Given the description of an element on the screen output the (x, y) to click on. 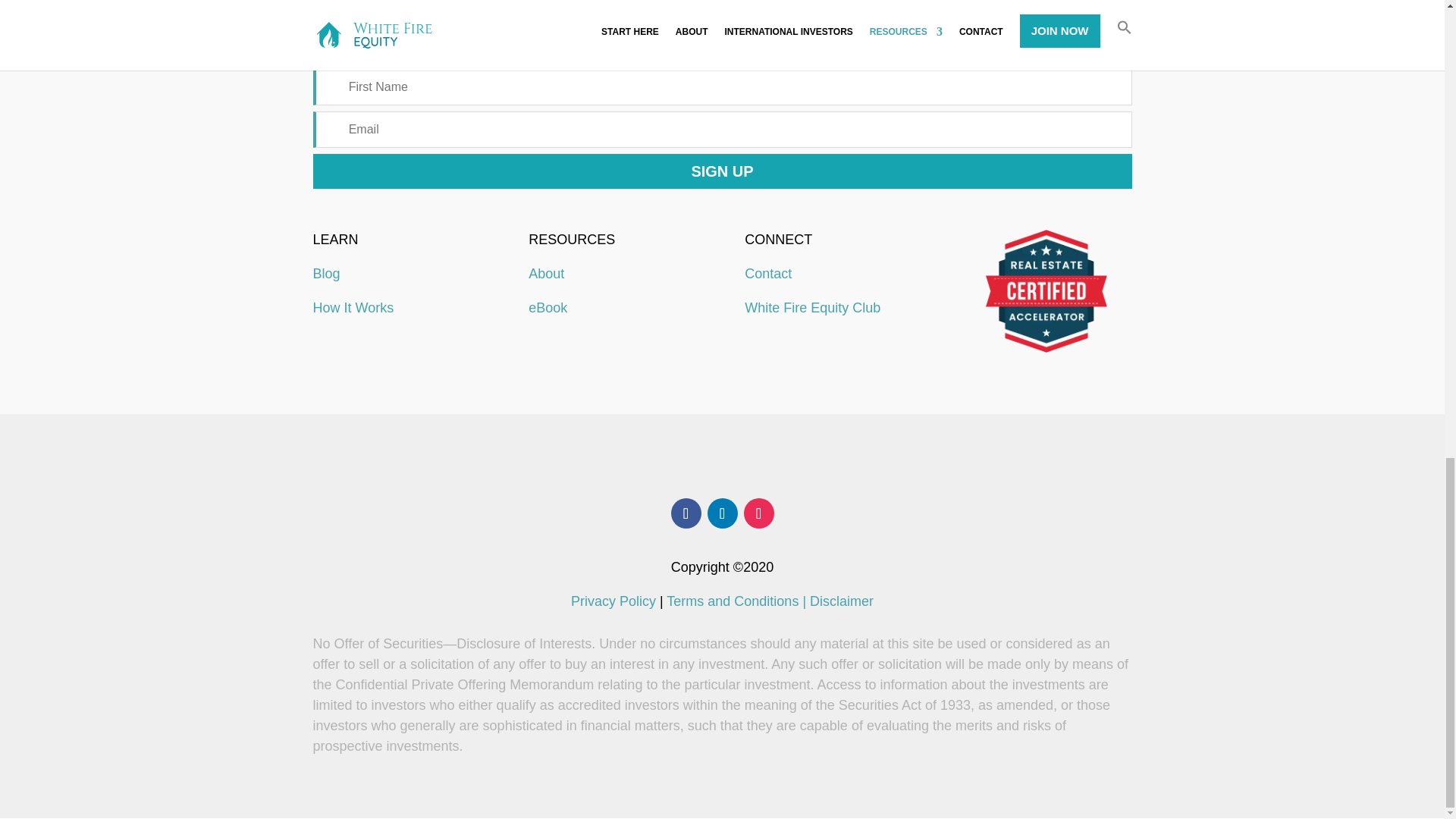
Follow on Instagram (757, 512)
Follow on Facebook (684, 512)
eBook (547, 307)
Contact (768, 273)
Follow on LinkedIn (721, 512)
Real Estate Accelerator Certified (1045, 291)
About (546, 273)
How It Works (353, 307)
SIGN UP (722, 171)
Blog (326, 273)
